Given the description of an element on the screen output the (x, y) to click on. 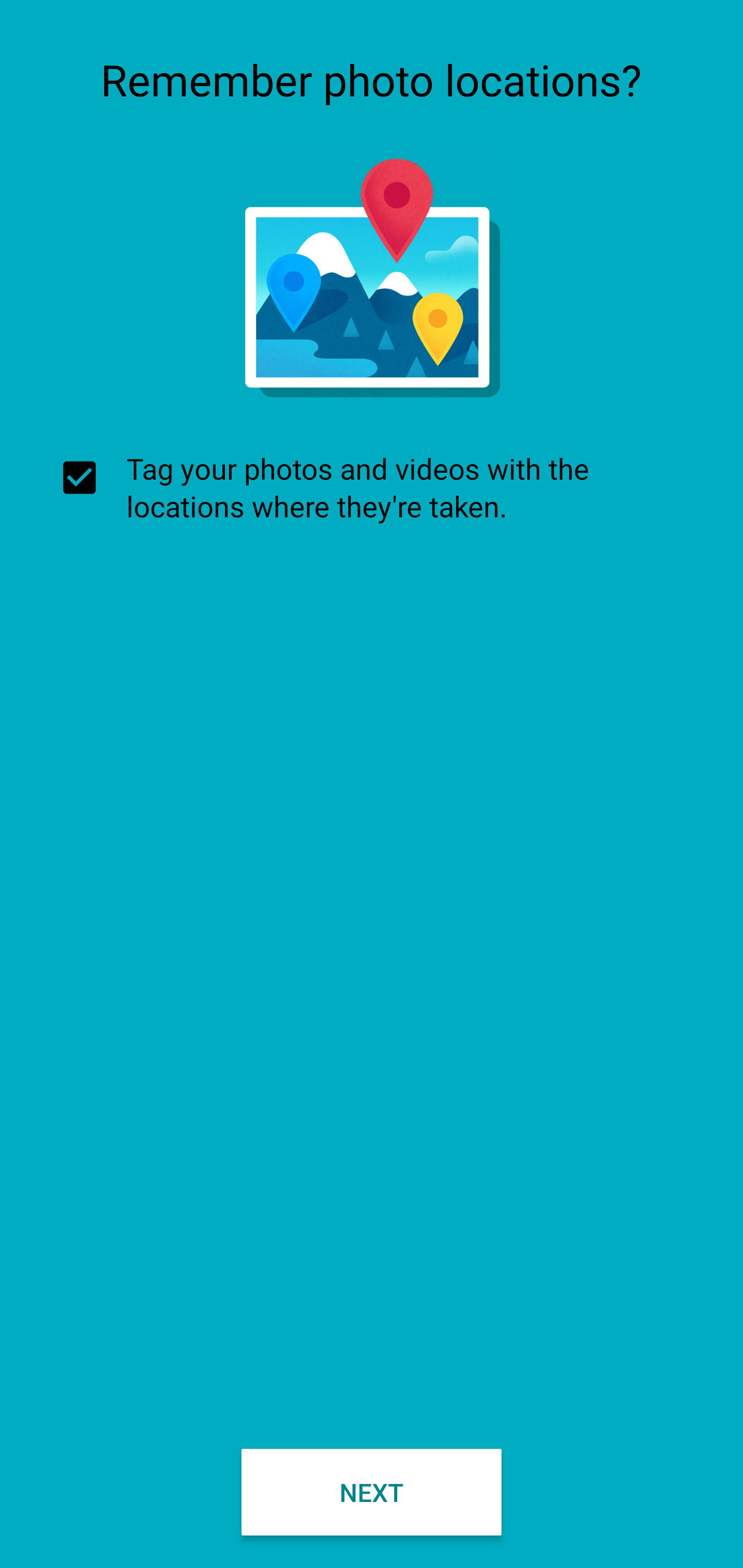
NEXT (371, 1491)
